Given the description of an element on the screen output the (x, y) to click on. 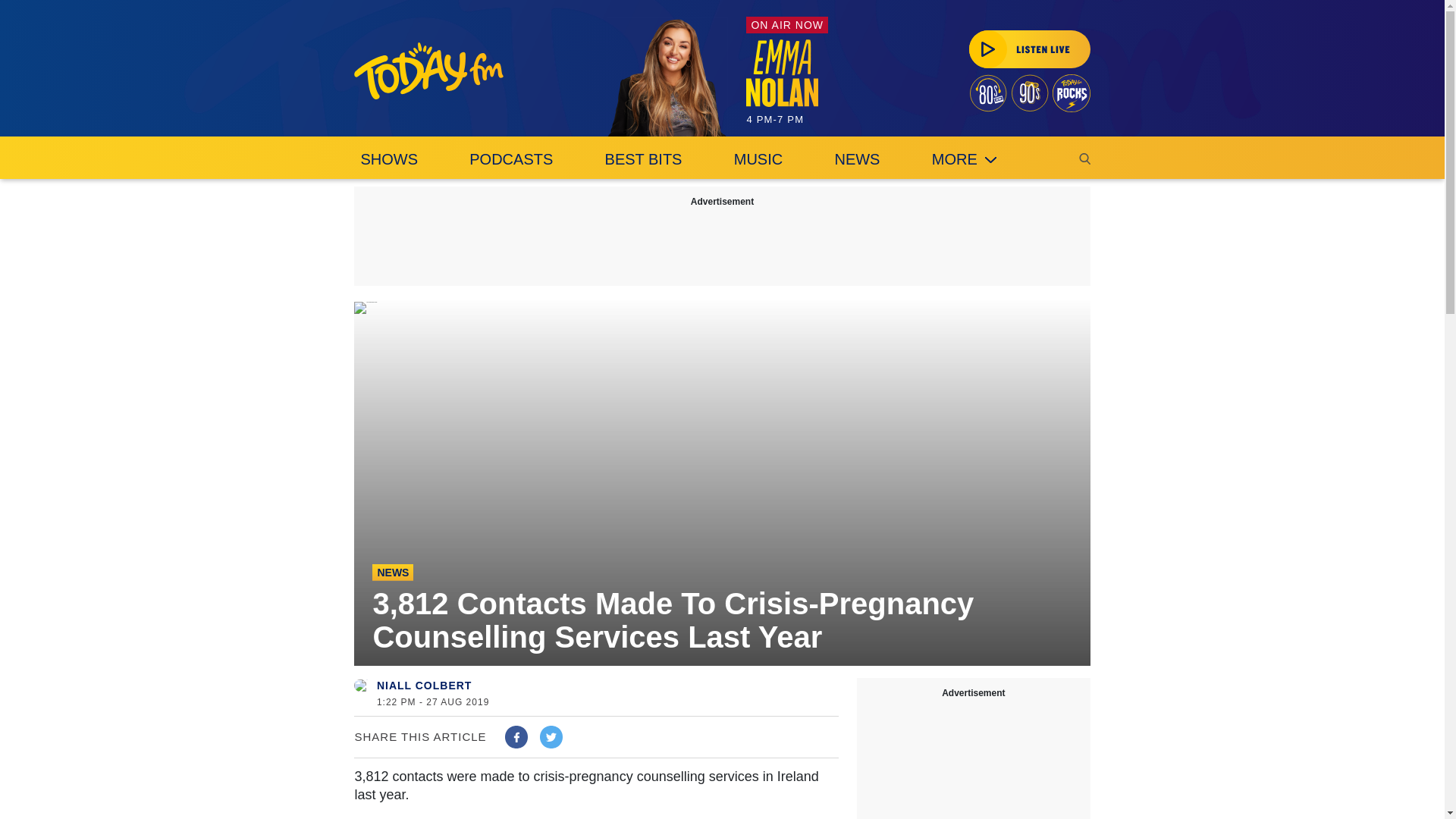
MUSIC (758, 157)
Emma Nolan (781, 73)
Shows (388, 157)
News (856, 157)
NIALL COLBERT (424, 685)
Music (758, 157)
Emma Nolan (667, 77)
Podcasts (511, 157)
SHOWS (388, 157)
Best Bits (643, 157)
PODCASTS (511, 157)
4 PM-7 PM (786, 95)
NEWS (856, 157)
MORE (964, 158)
BEST BITS (643, 157)
